Given the description of an element on the screen output the (x, y) to click on. 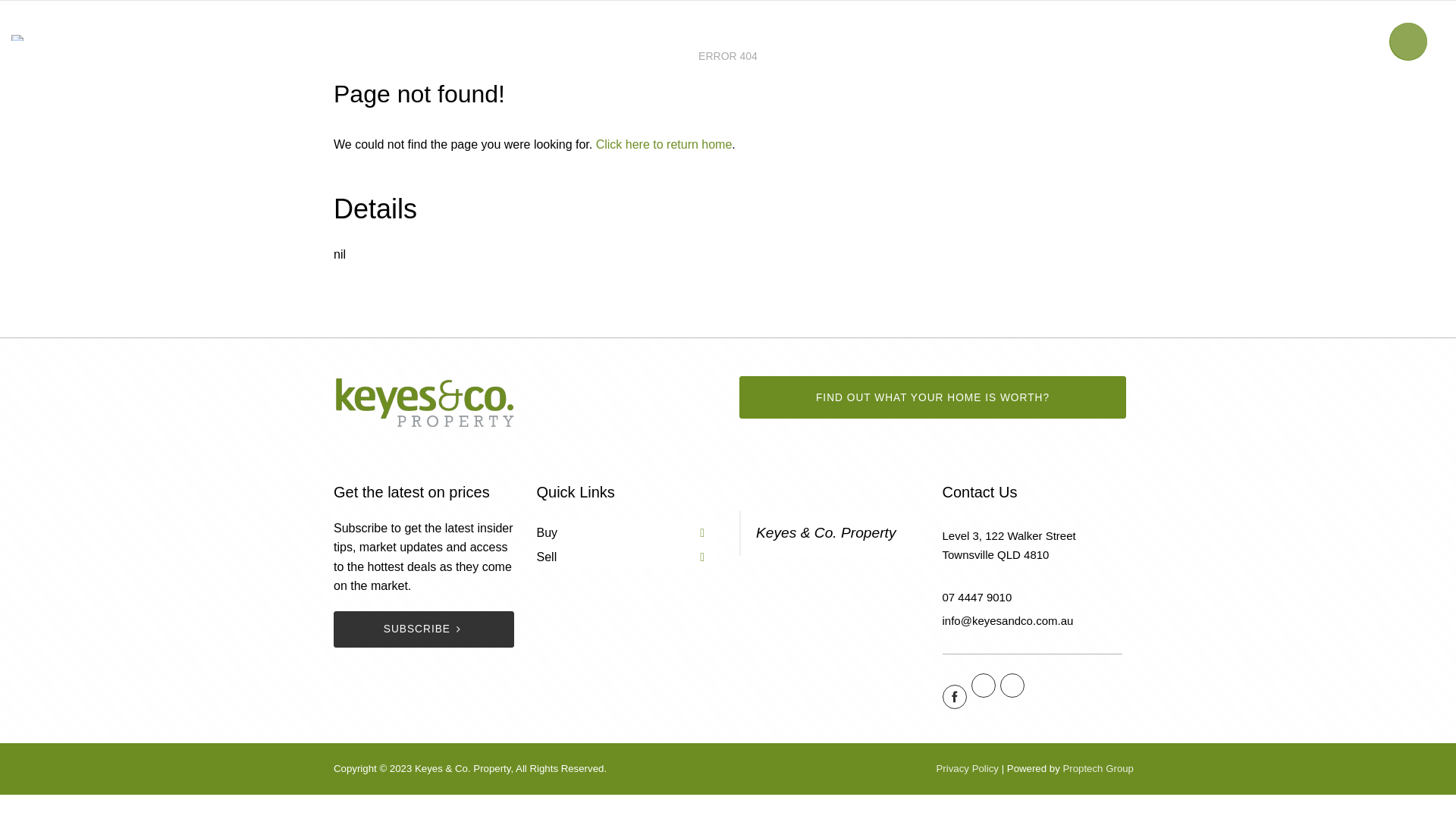
Buy Element type: text (638, 37)
Home Element type: text (583, 37)
Click here to return home Element type: text (664, 144)
FIND OUT WHAT YOUR HOME IS WORTH? Element type: text (932, 397)
info@keyesandco.com.au Element type: text (1007, 620)
Keyes & Co. Property Element type: text (826, 532)
Proptech Group Element type: text (1097, 768)
Sell Element type: text (687, 37)
About Element type: text (800, 37)
Contact Element type: text (866, 37)
News Element type: text (740, 37)
SUBSCRIBE Element type: text (423, 629)
Privacy Policy Element type: text (967, 768)
07 4447 9010 Element type: text (976, 596)
